Given the description of an element on the screen output the (x, y) to click on. 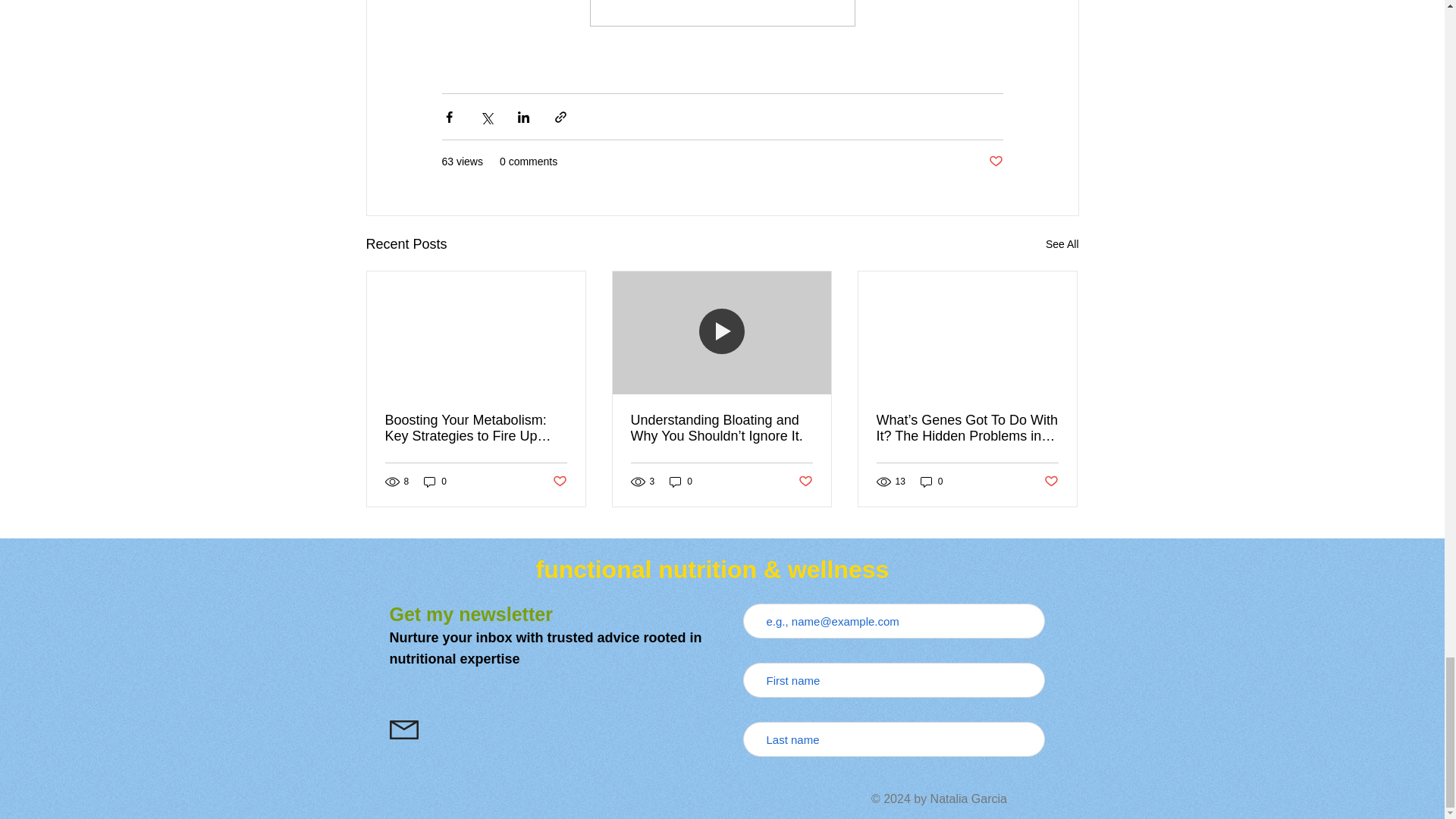
Post not marked as liked (558, 481)
See All (1061, 244)
Post not marked as liked (995, 161)
0 (435, 481)
